Given the description of an element on the screen output the (x, y) to click on. 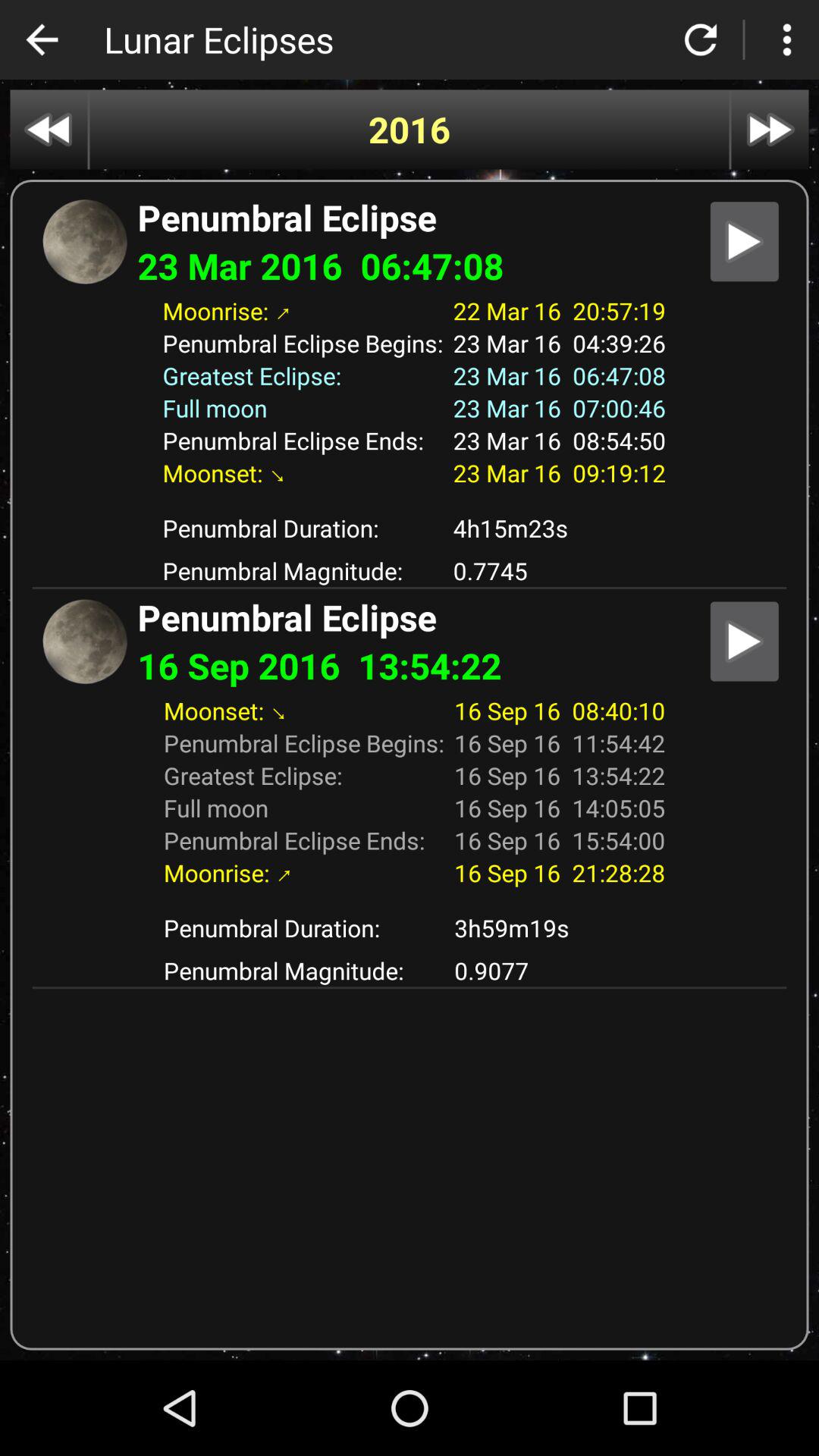
play the video (744, 241)
